Given the description of an element on the screen output the (x, y) to click on. 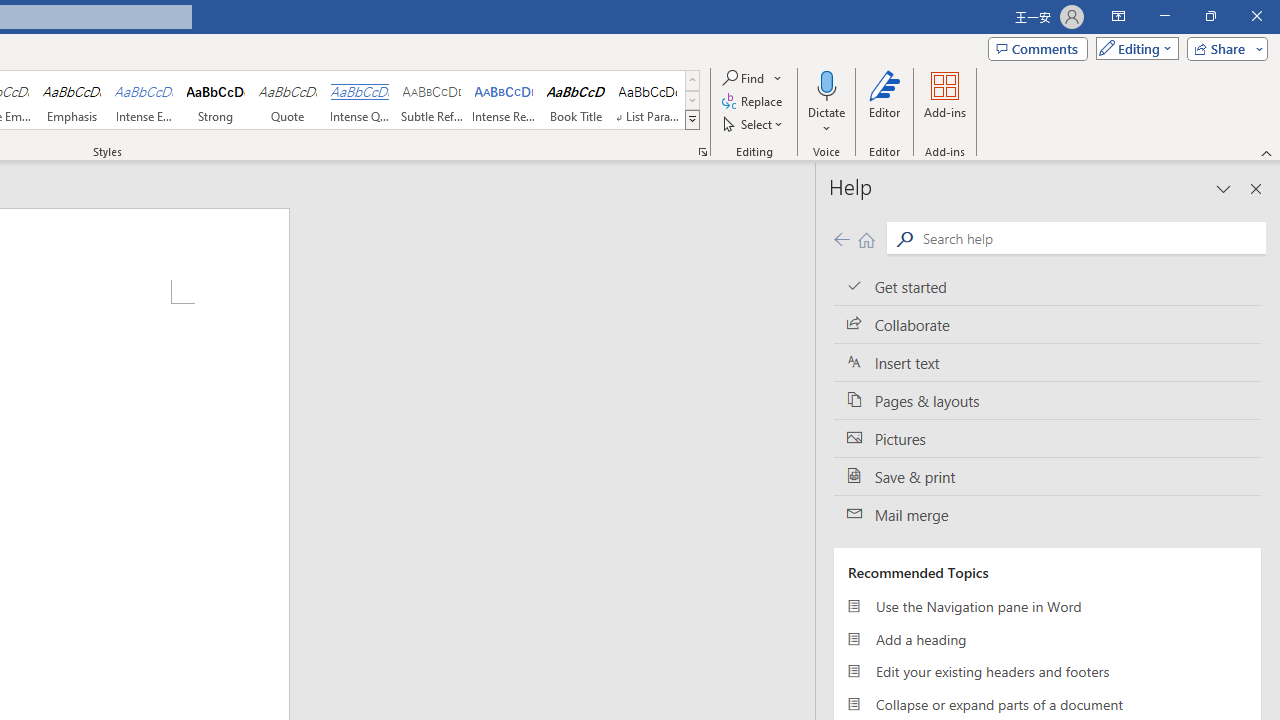
Dictate (826, 102)
Save & print (1047, 476)
Insert text (1047, 363)
Home (866, 238)
